Given the description of an element on the screen output the (x, y) to click on. 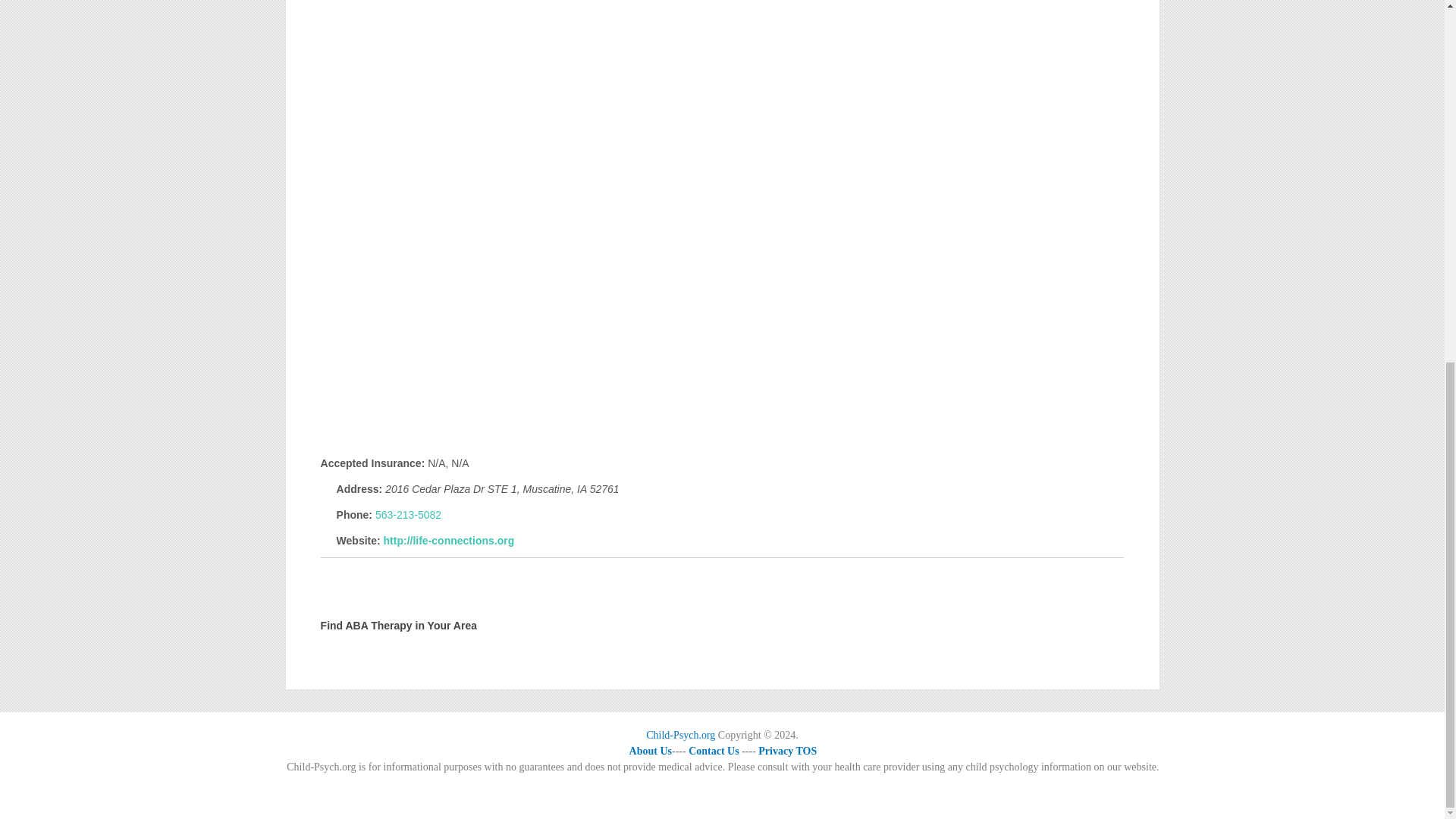
563-213-5082 (408, 514)
About Us (649, 750)
Child-Psych.org (680, 735)
 Child Psychology and Parenting Resources (680, 735)
Privacy TOS (787, 750)
Contact Us (713, 750)
